Given the description of an element on the screen output the (x, y) to click on. 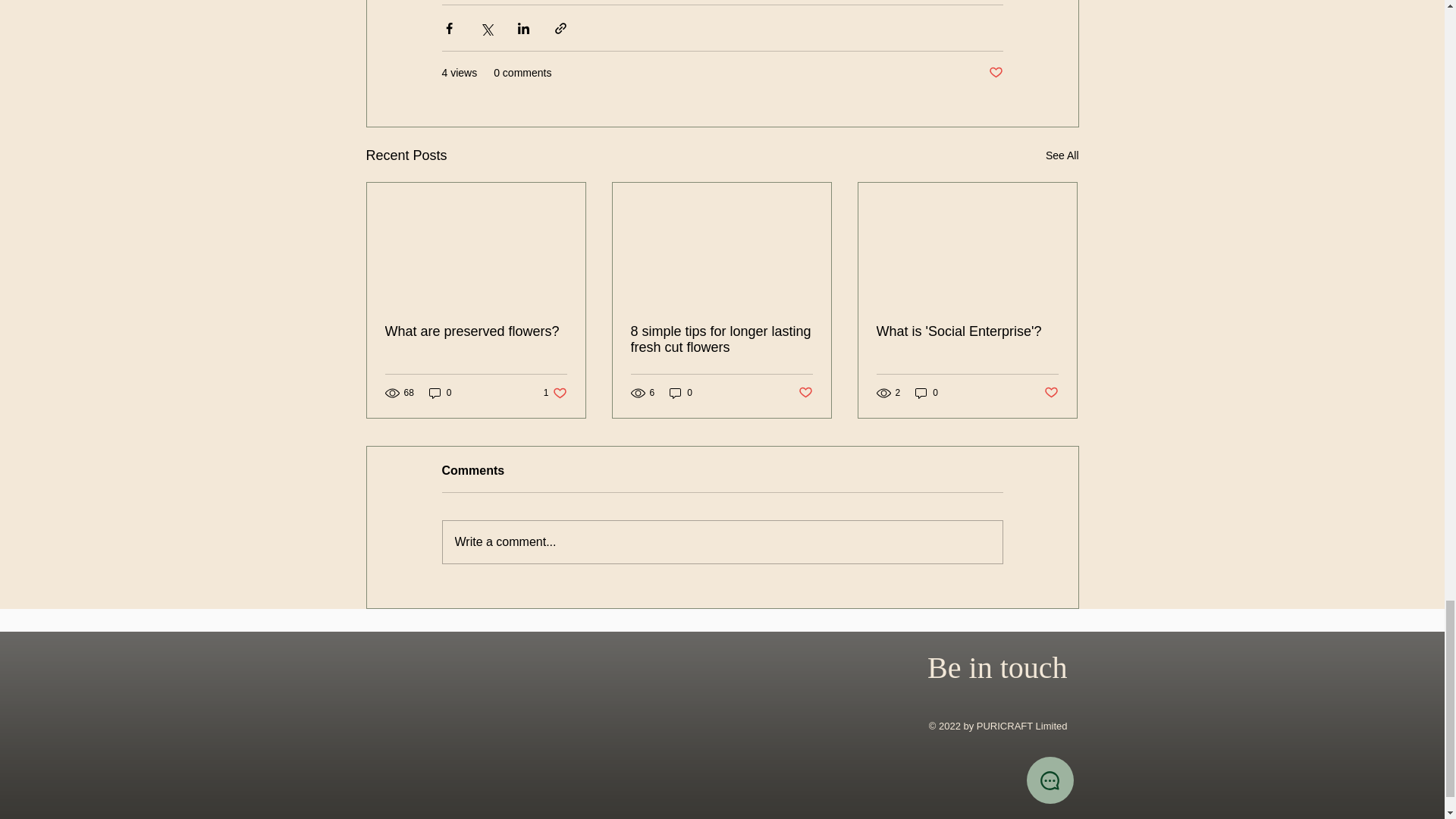
What are preserved flowers? (476, 331)
Post not marked as liked (1050, 392)
Write a comment... (722, 541)
Post not marked as liked (995, 73)
0 (440, 392)
0 (926, 392)
8 simple tips for longer lasting fresh cut flowers (721, 339)
See All (1061, 155)
Post not marked as liked (555, 392)
0 (804, 392)
What is 'Social Enterprise'? (681, 392)
